Given the description of an element on the screen output the (x, y) to click on. 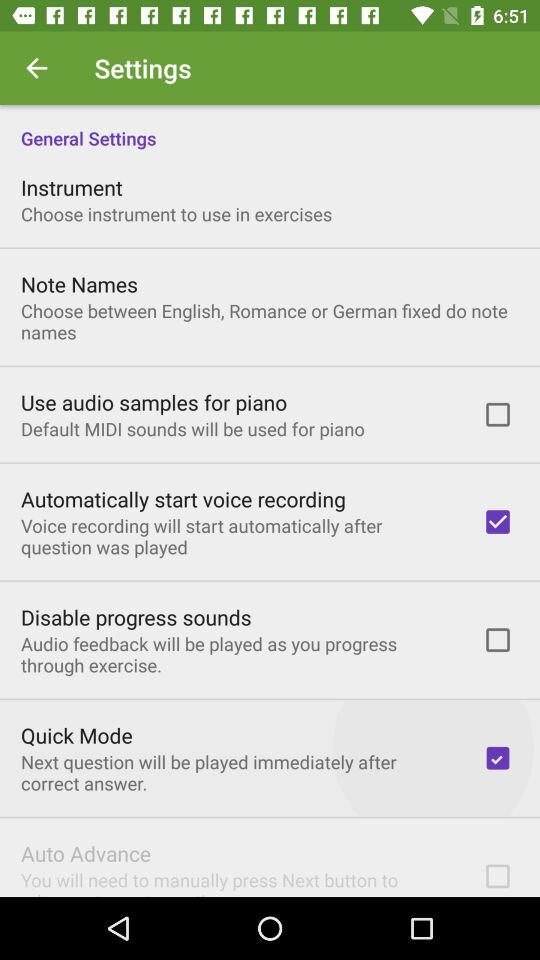
jump to the quick mode item (76, 735)
